Given the description of an element on the screen output the (x, y) to click on. 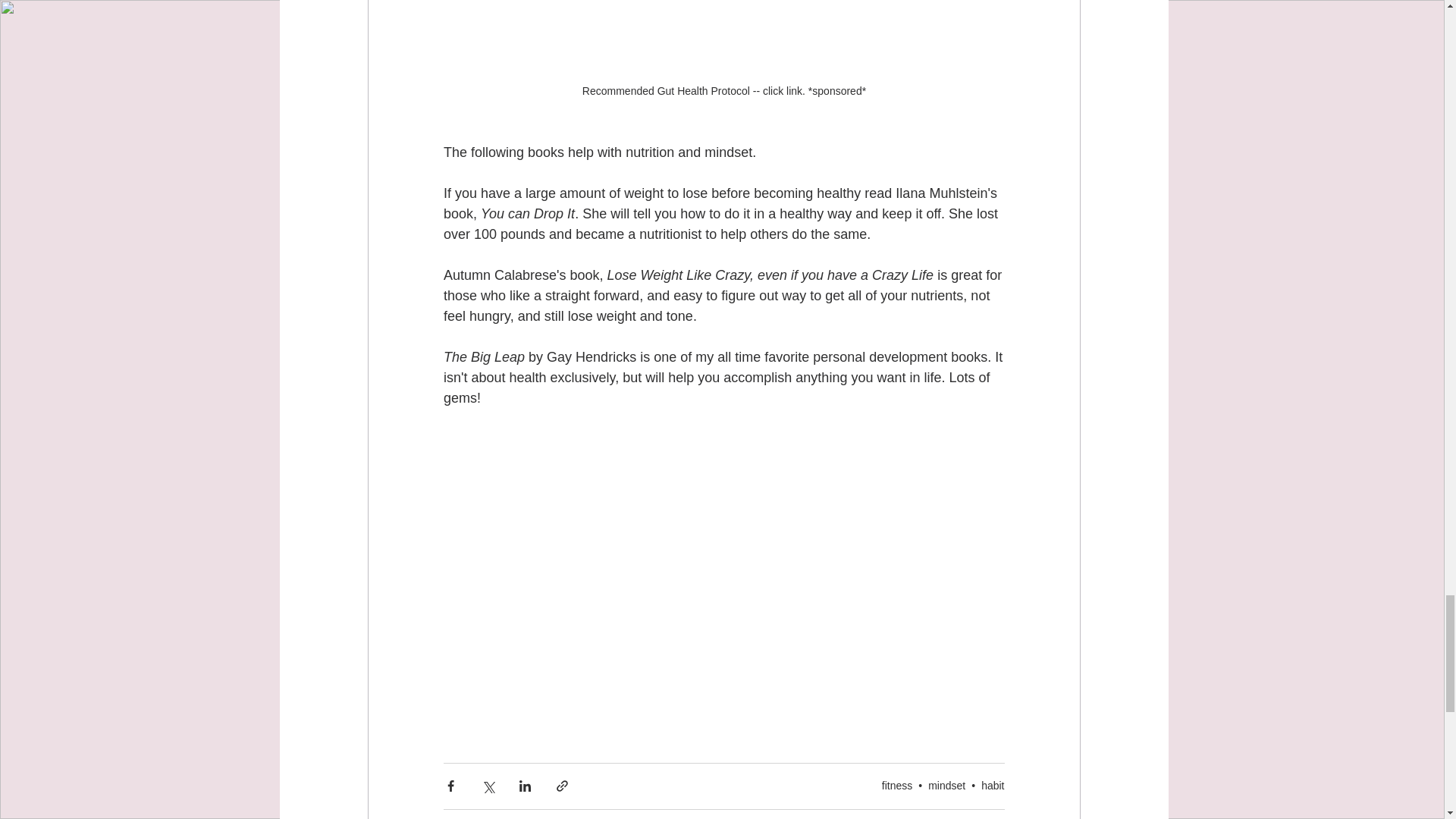
habit (992, 785)
fitness (897, 785)
mindset (946, 785)
